Given the description of an element on the screen output the (x, y) to click on. 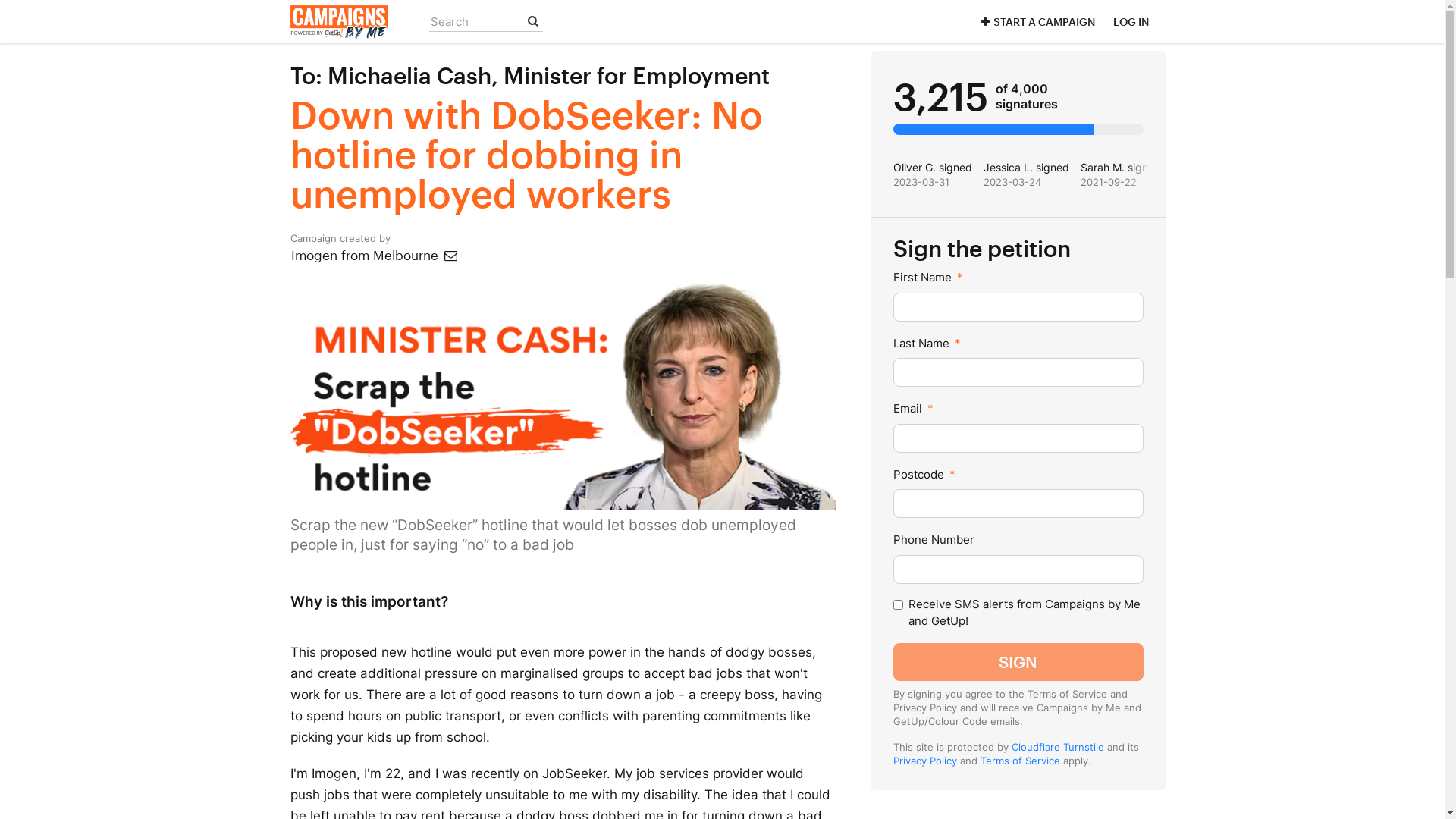
Skip to main content Element type: text (0, 0)
Cloudflare Turnstile Element type: text (1057, 746)
Privacy Policy Element type: text (925, 760)
Terms of Service Element type: text (1019, 760)
Imogen from Melbourne Element type: text (374, 254)
SIGN Element type: text (1018, 661)
LOG IN Element type: text (1130, 21)
START A CAMPAIGN Element type: text (1035, 21)
